Given the description of an element on the screen output the (x, y) to click on. 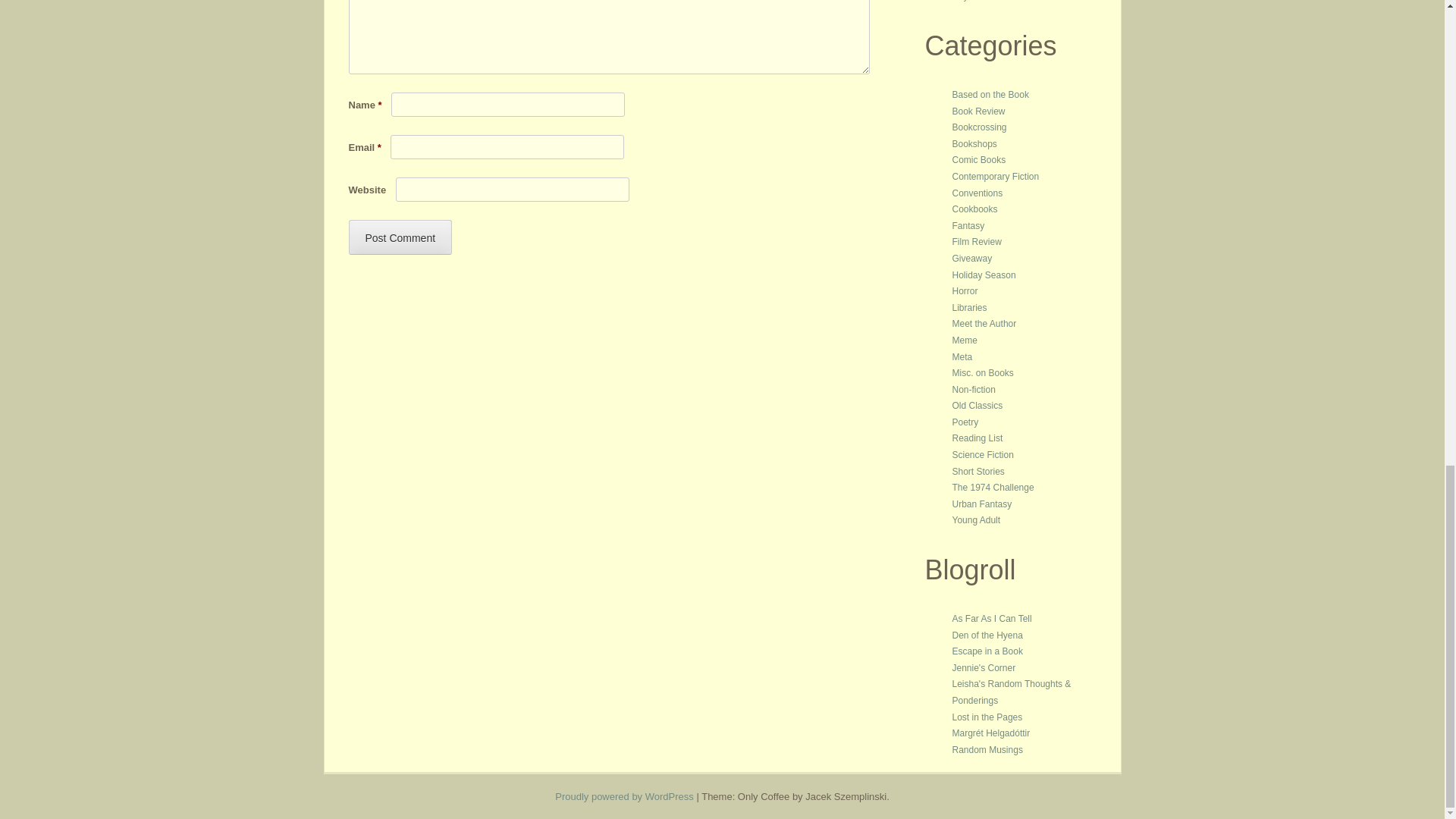
Post Comment (400, 237)
A Semantic Personal Publishing Platform (624, 796)
Post Comment (400, 237)
